Given the description of an element on the screen output the (x, y) to click on. 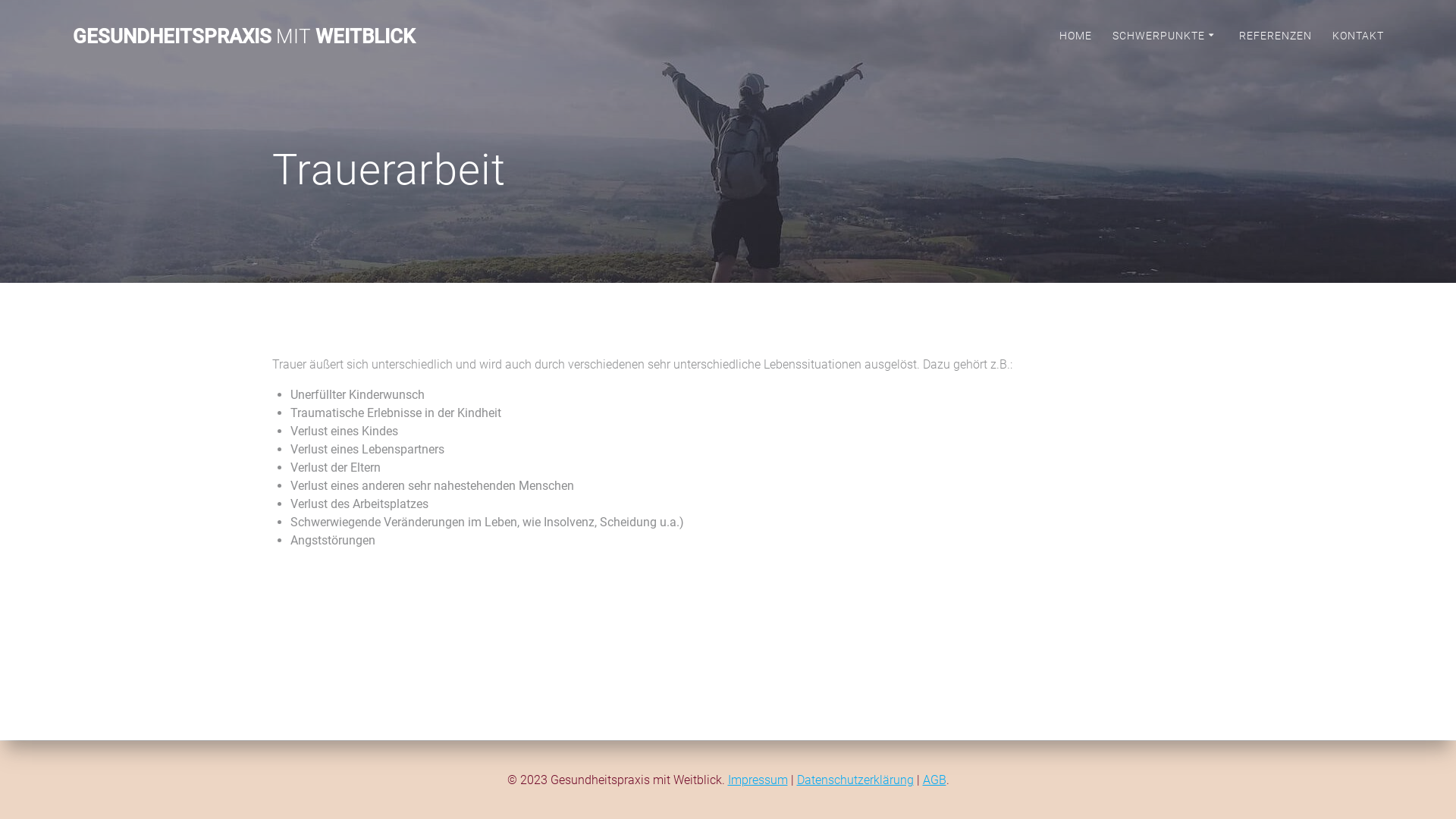
SCHWERPUNKTE Element type: text (1165, 36)
REFERENZEN Element type: text (1275, 36)
Impressum Element type: text (757, 779)
AGB Element type: text (933, 779)
KONTAKT Element type: text (1357, 36)
HOME Element type: text (1075, 36)
GESUNDHEITSPRAXIS MIT WEITBLICK Element type: text (243, 37)
